Given the description of an element on the screen output the (x, y) to click on. 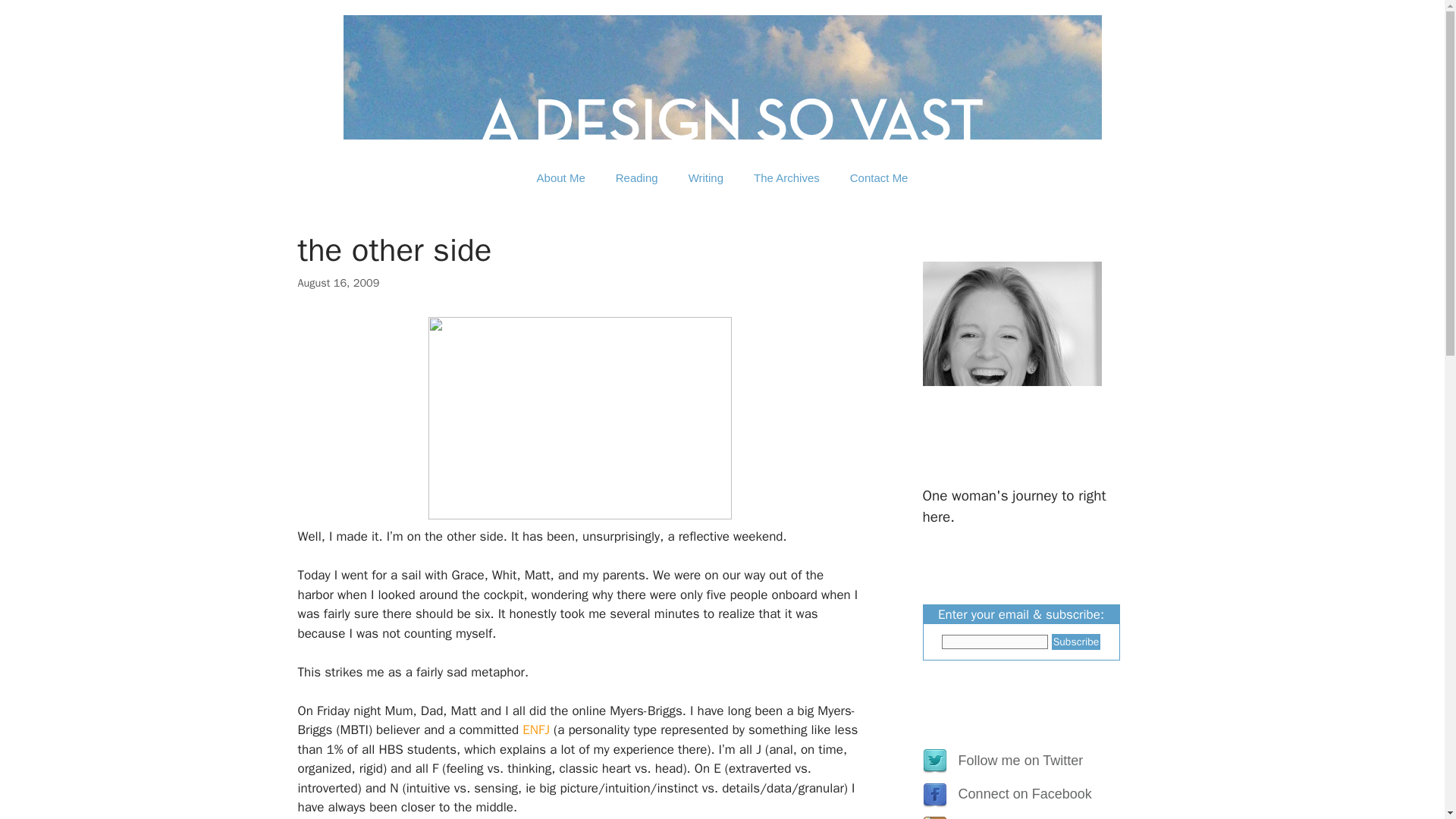
A Design So Vast (721, 77)
The Archives (786, 177)
Subscribe (1075, 641)
Connect on Facebook (1021, 793)
Follow me on Twitter (1016, 760)
ENFJ (536, 729)
Contact Me (878, 177)
Reading (635, 177)
A Design So Vast (721, 76)
About Me (560, 177)
Subscribe (1075, 641)
Writing (705, 177)
